Given the description of an element on the screen output the (x, y) to click on. 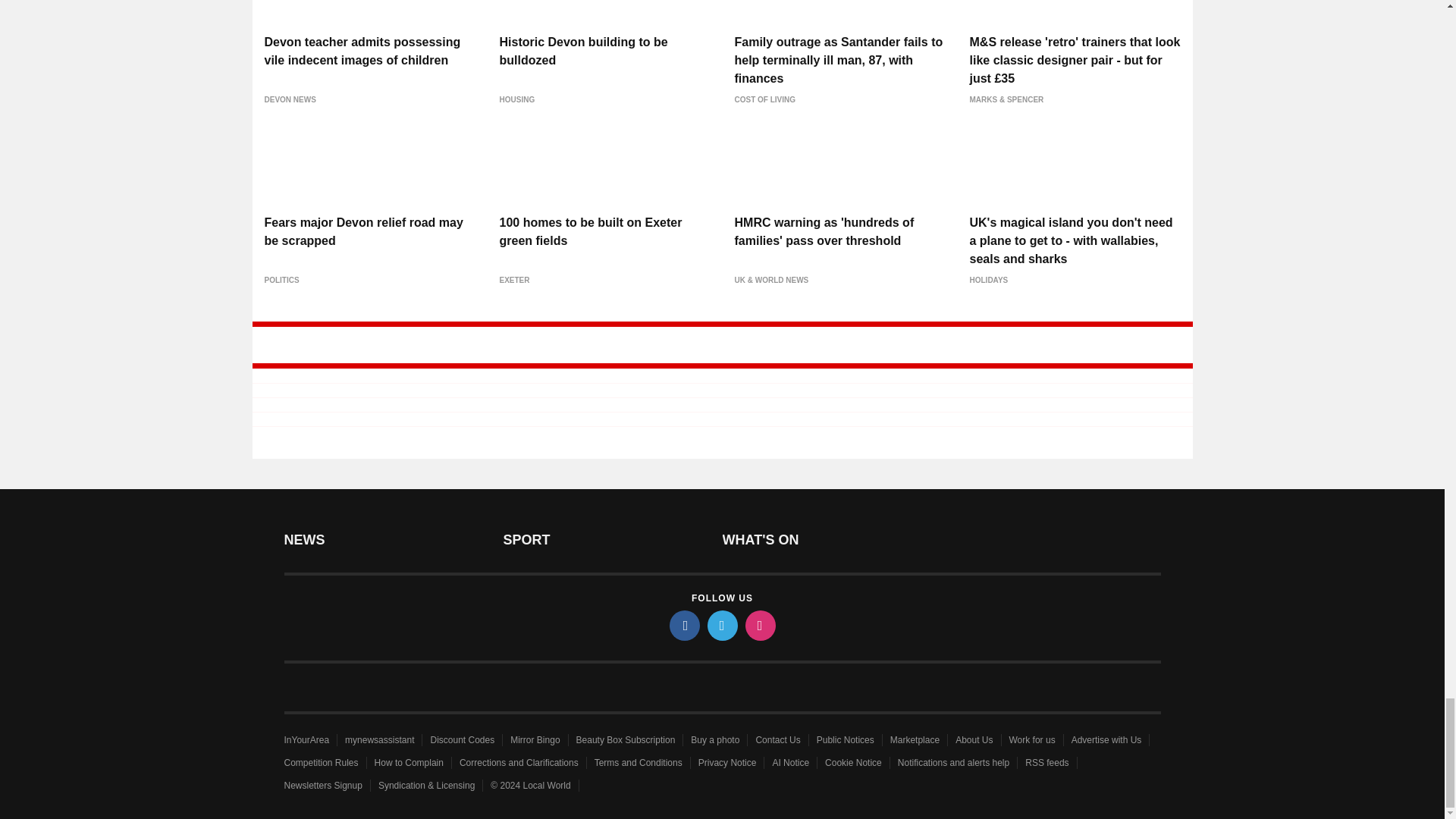
instagram (759, 625)
twitter (721, 625)
facebook (683, 625)
